Given the description of an element on the screen output the (x, y) to click on. 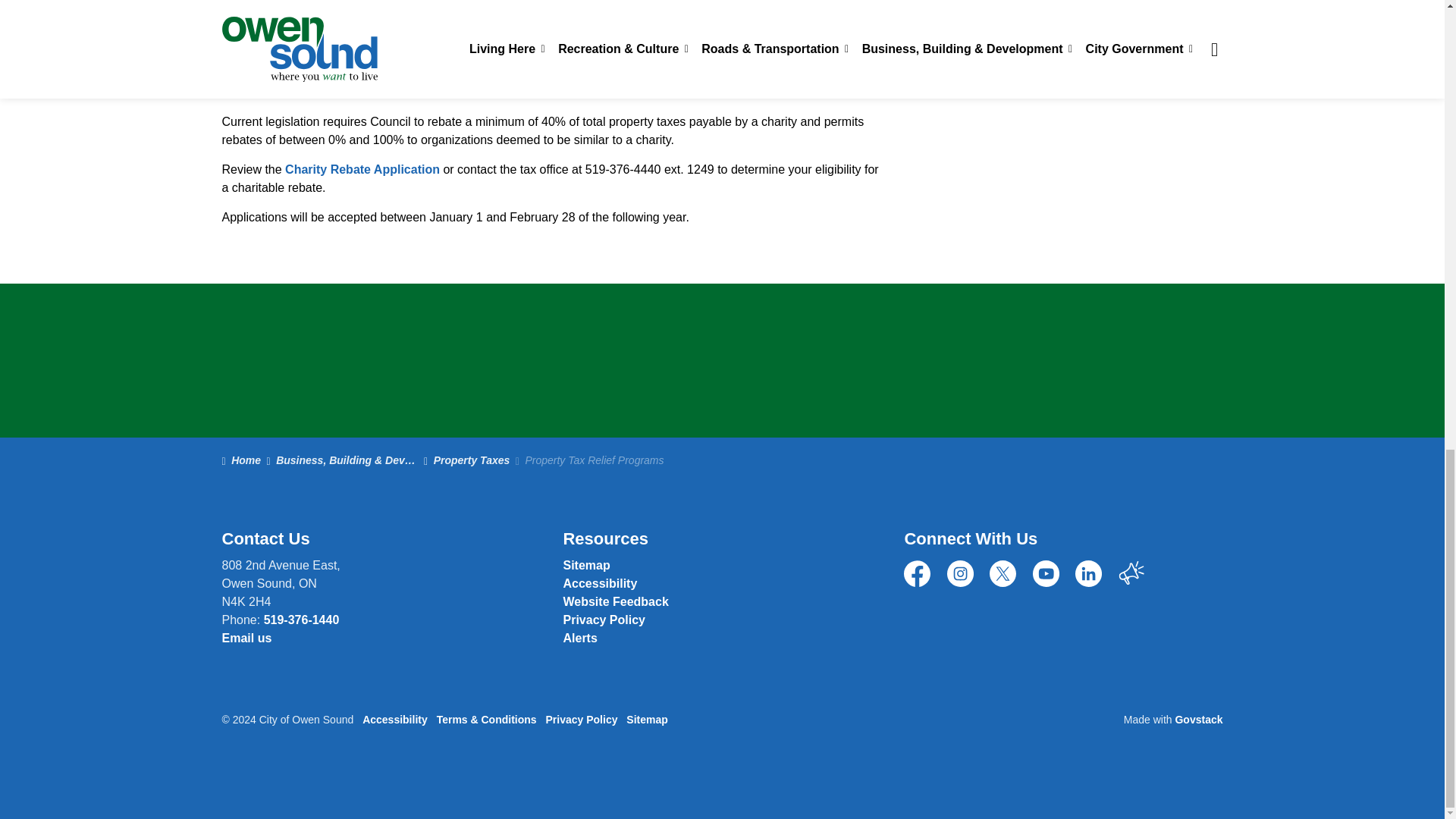
Contacts Directory (615, 601)
Contacts Directory (245, 637)
Accessibility (599, 583)
Sitemap (586, 564)
Open new window to view Charity Rebate Application (362, 169)
News and Public Notices (579, 637)
Privacy Policy (603, 619)
